Given the description of an element on the screen output the (x, y) to click on. 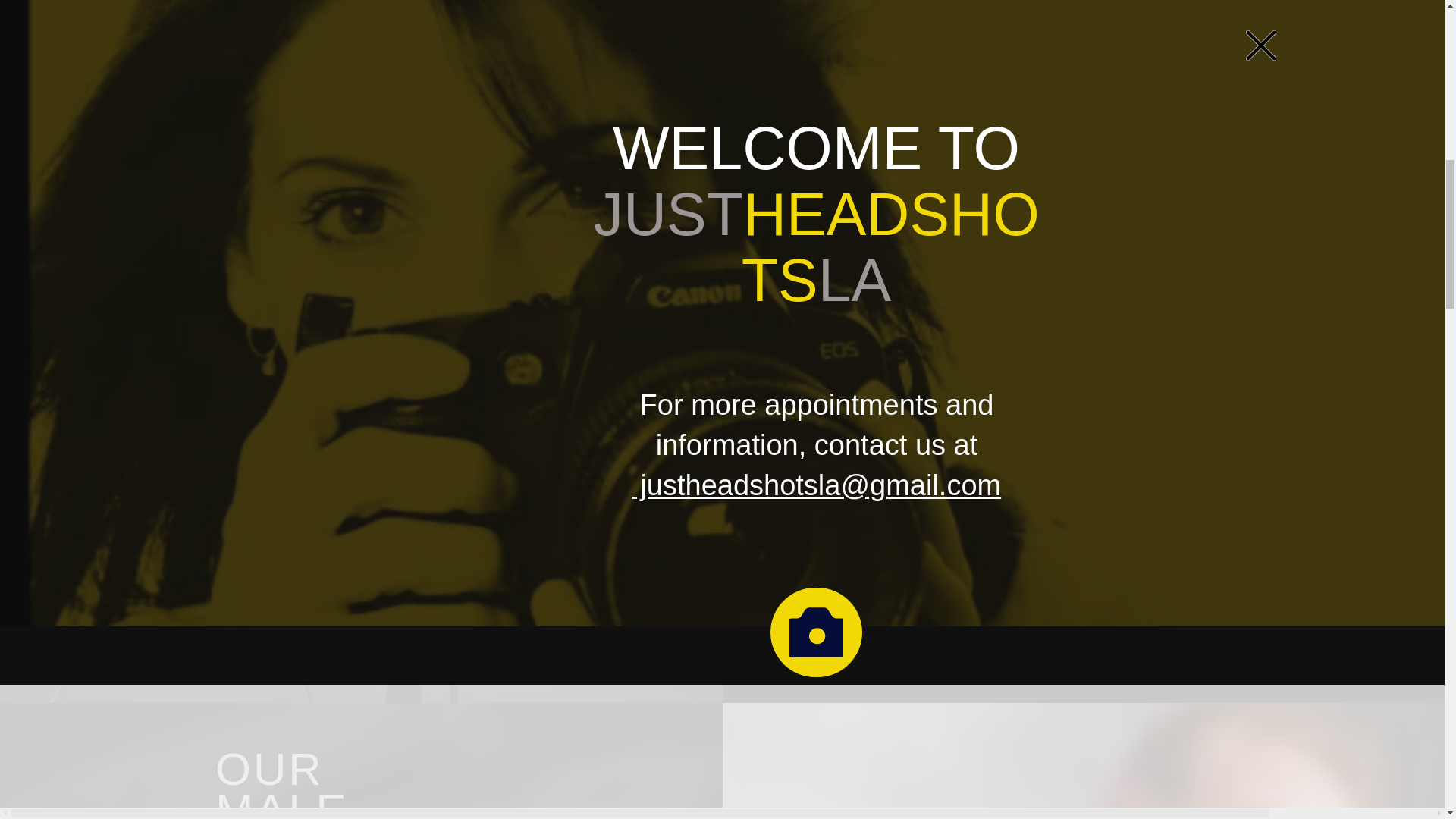
Affordable Headshots For Everyone! (1082, 295)
